Given the description of an element on the screen output the (x, y) to click on. 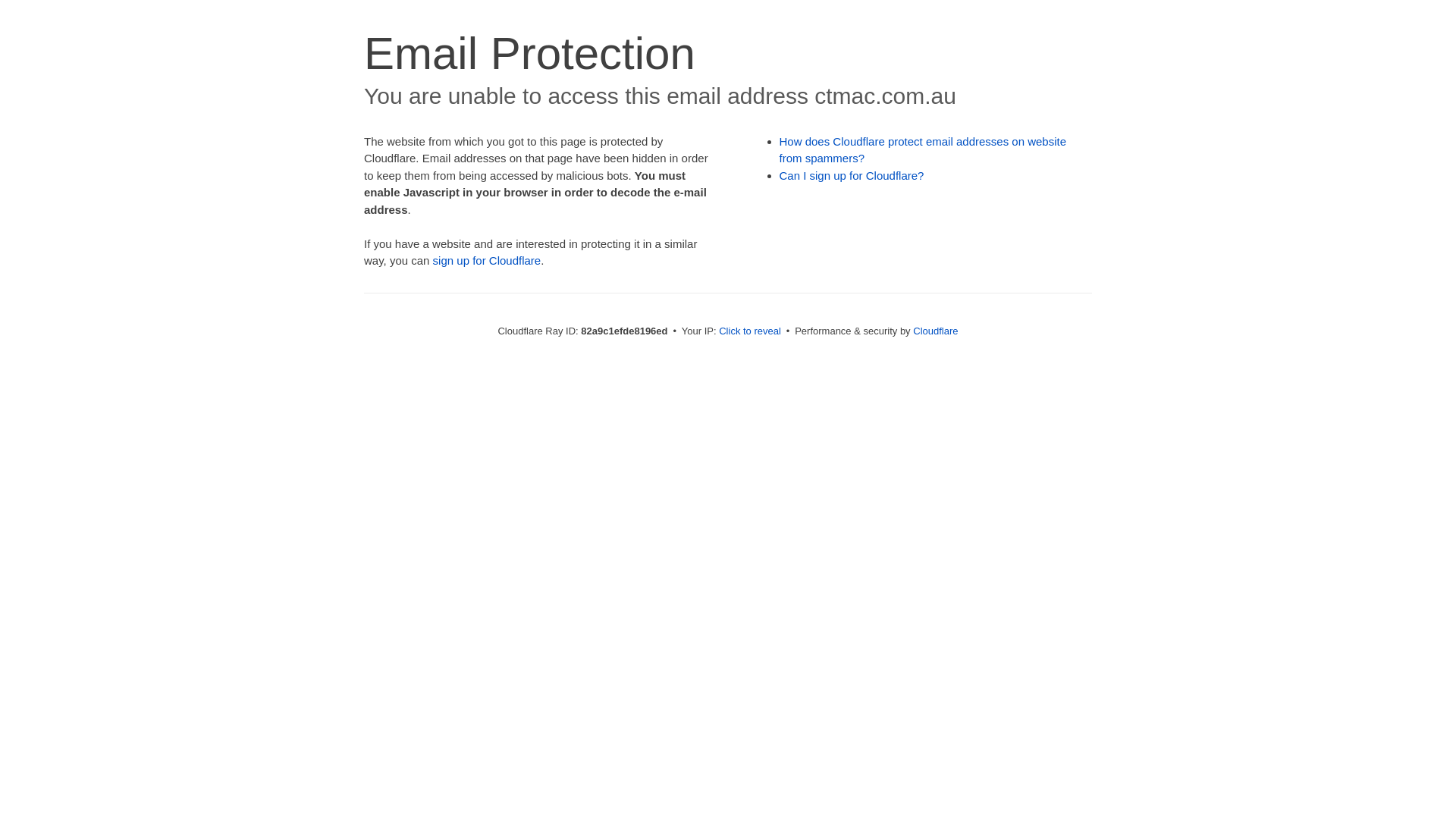
Click to reveal Element type: text (749, 330)
Can I sign up for Cloudflare? Element type: text (851, 175)
sign up for Cloudflare Element type: text (487, 260)
Cloudflare Element type: text (935, 330)
